Given the description of an element on the screen output the (x, y) to click on. 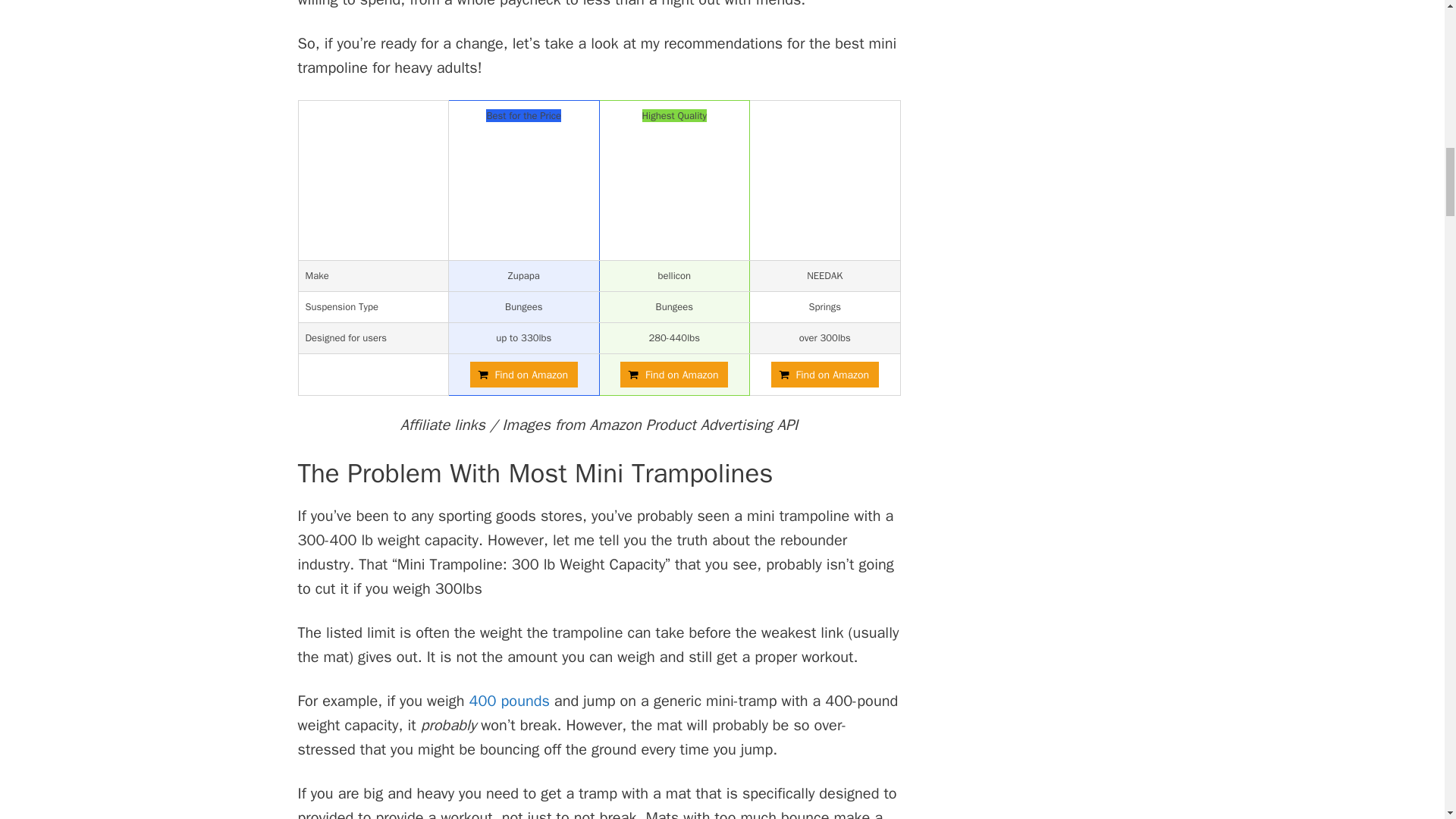
Find on Amazon (674, 374)
Find on Amazon (825, 374)
Find on Amazon (524, 374)
